Given the description of an element on the screen output the (x, y) to click on. 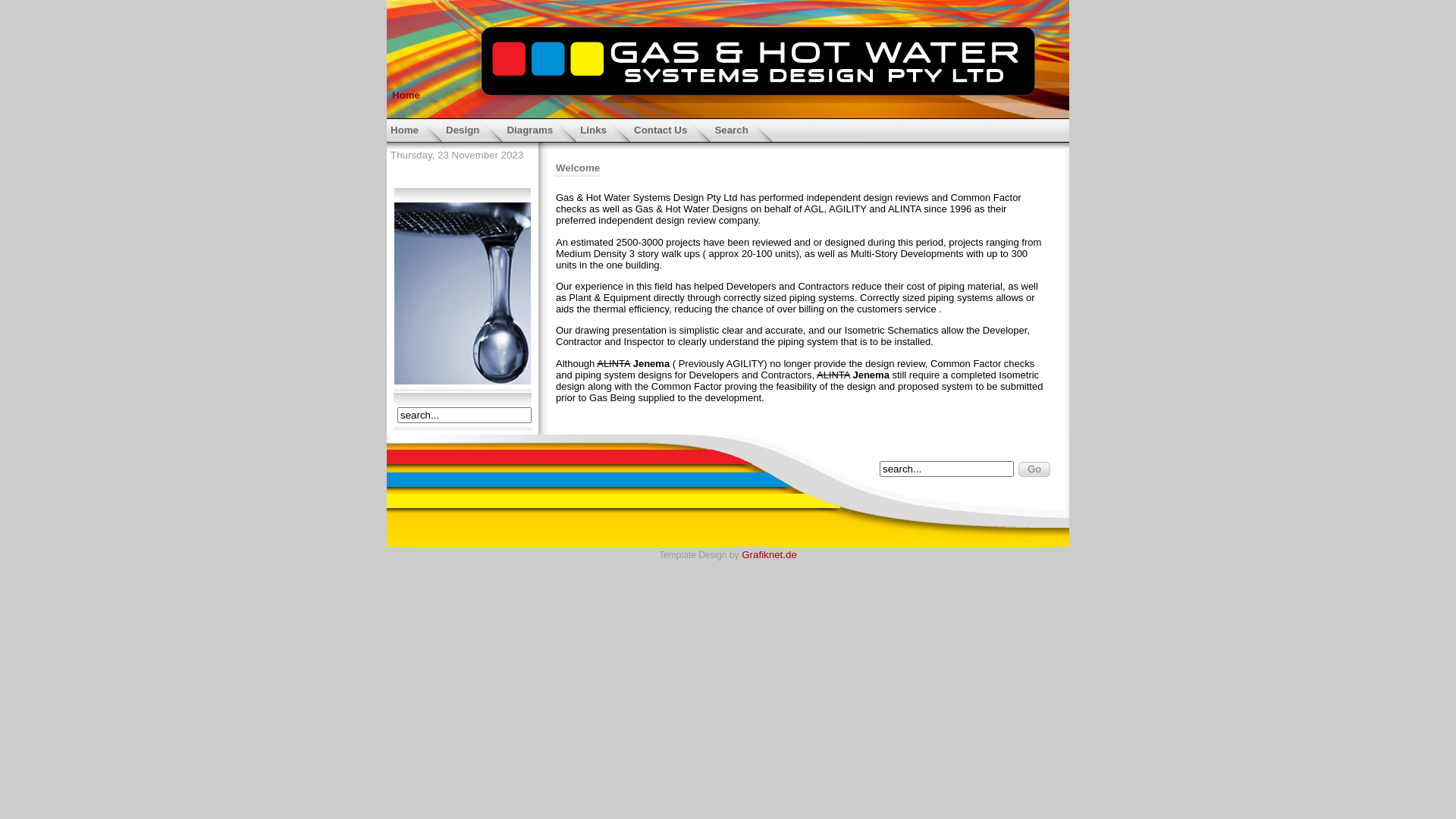
Contact Us Element type: text (670, 129)
Diagrams Element type: text (539, 129)
Links Element type: text (603, 129)
Home Element type: text (414, 129)
Grafiknet.de Element type: text (769, 554)
Go Element type: text (1033, 468)
Search Element type: text (740, 129)
Design Element type: text (472, 129)
